Given the description of an element on the screen output the (x, y) to click on. 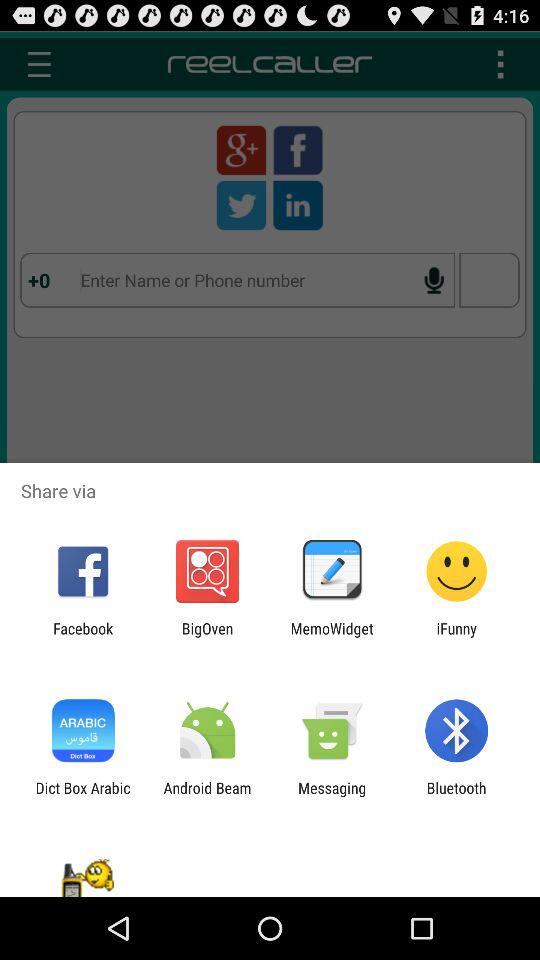
launch dict box arabic (82, 796)
